Given the description of an element on the screen output the (x, y) to click on. 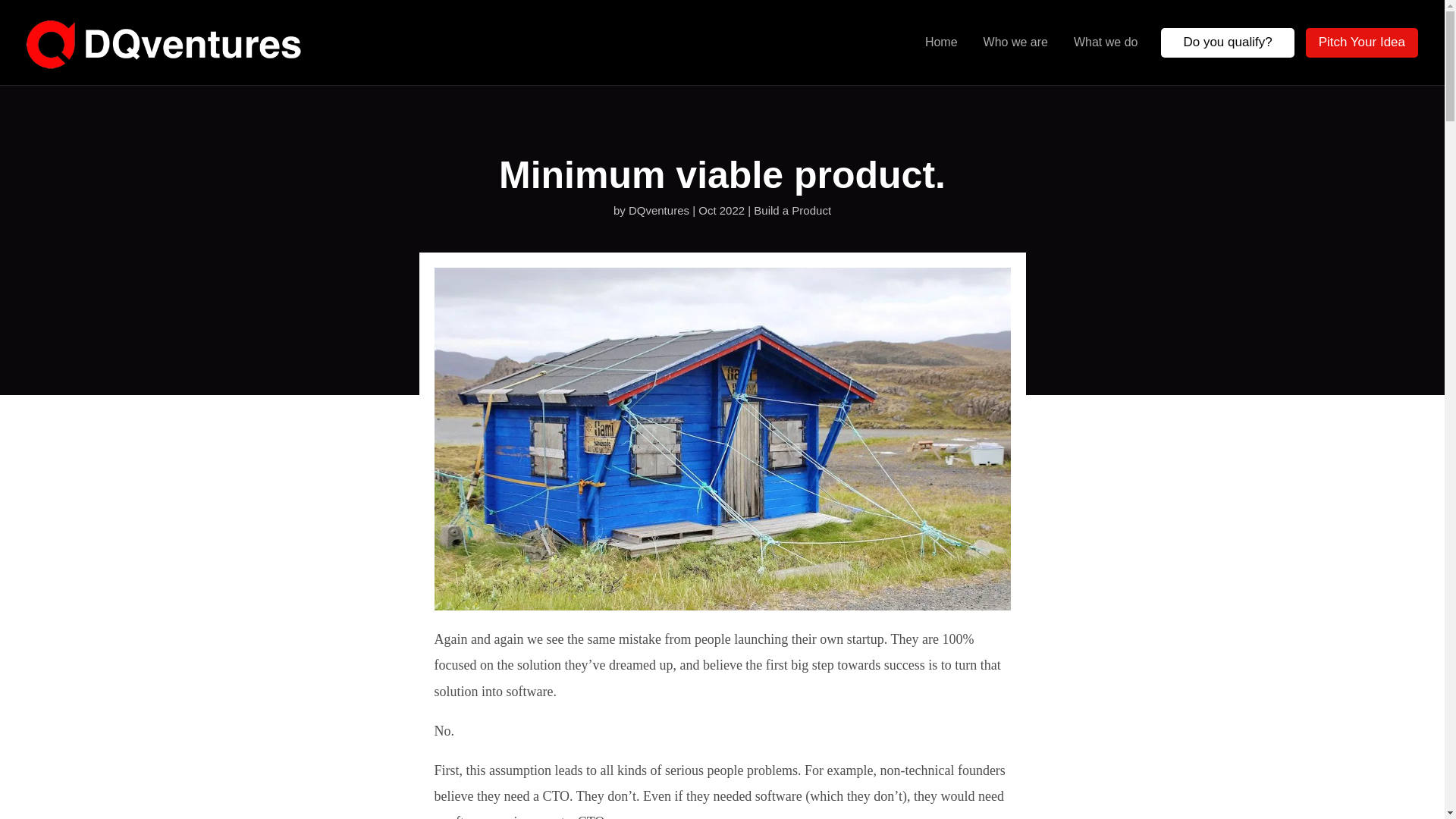
What we do (1105, 41)
Who we are (1016, 41)
Do you qualify? (1227, 42)
Build a Product (792, 210)
Pitch Your Idea (1362, 42)
DQventures (658, 210)
Posts by DQventures (658, 210)
